Given the description of an element on the screen output the (x, y) to click on. 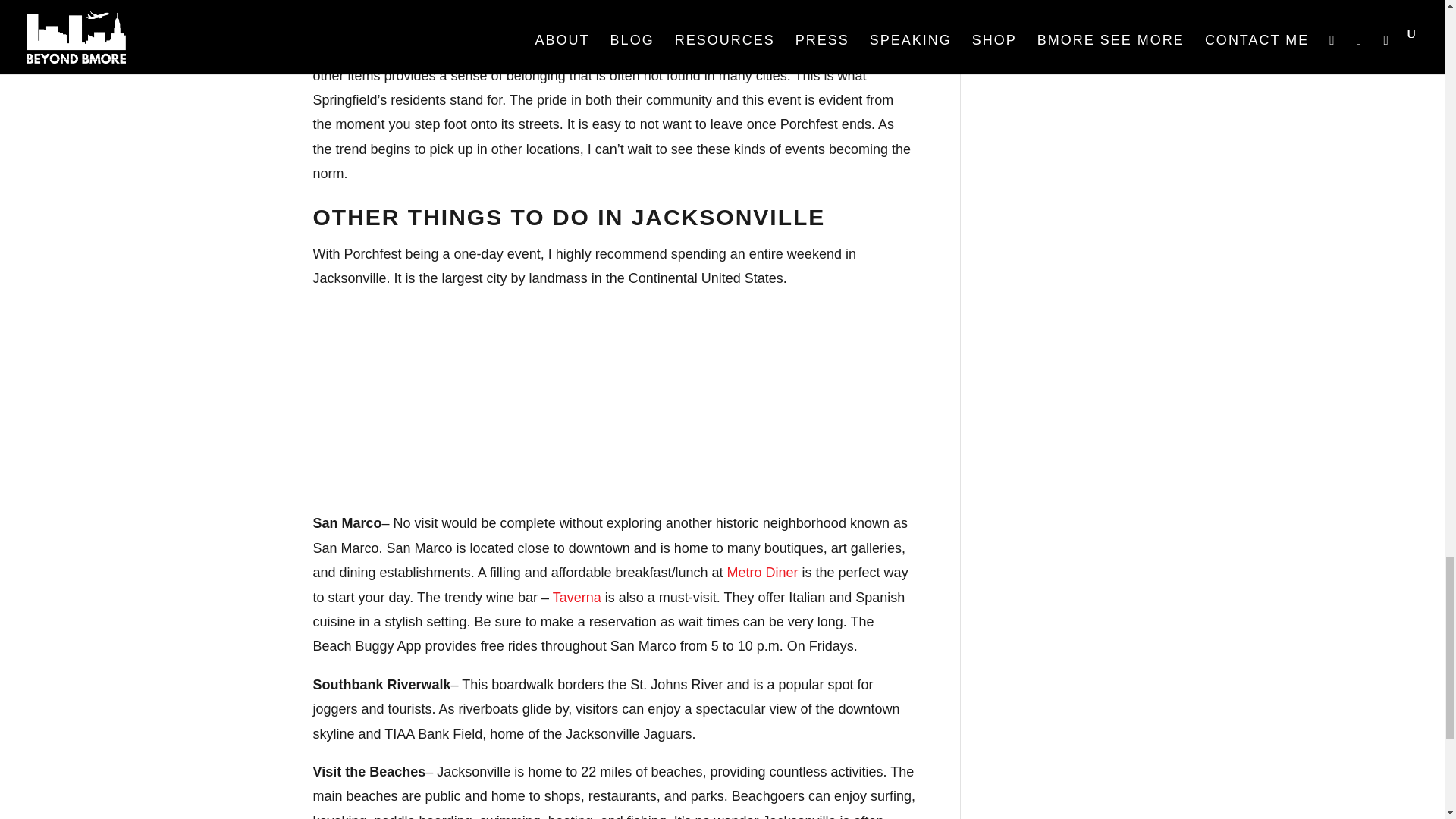
Metro Diner (761, 572)
Taverna (577, 597)
